Given the description of an element on the screen output the (x, y) to click on. 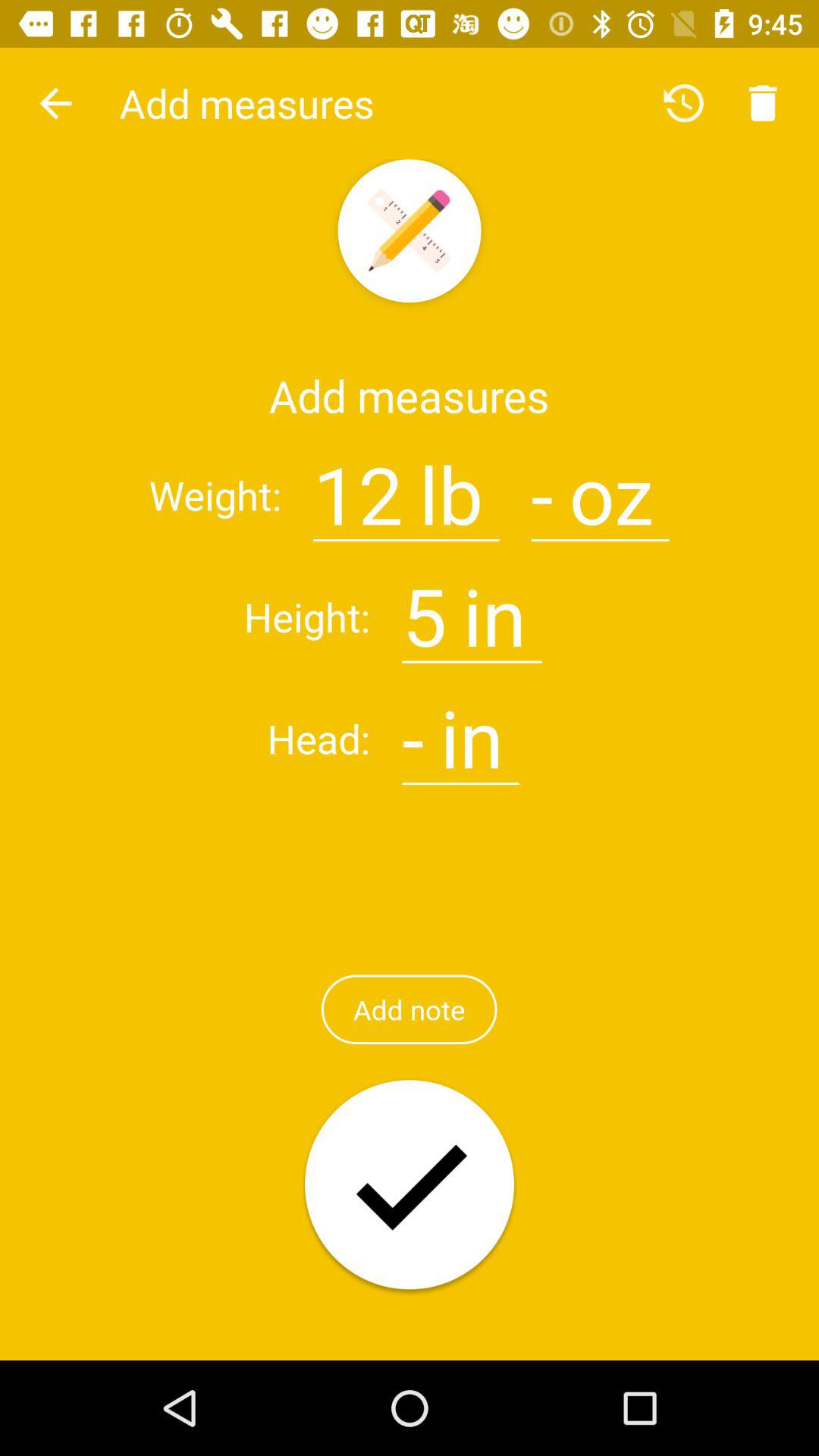
turn off 12 item (358, 485)
